Given the description of an element on the screen output the (x, y) to click on. 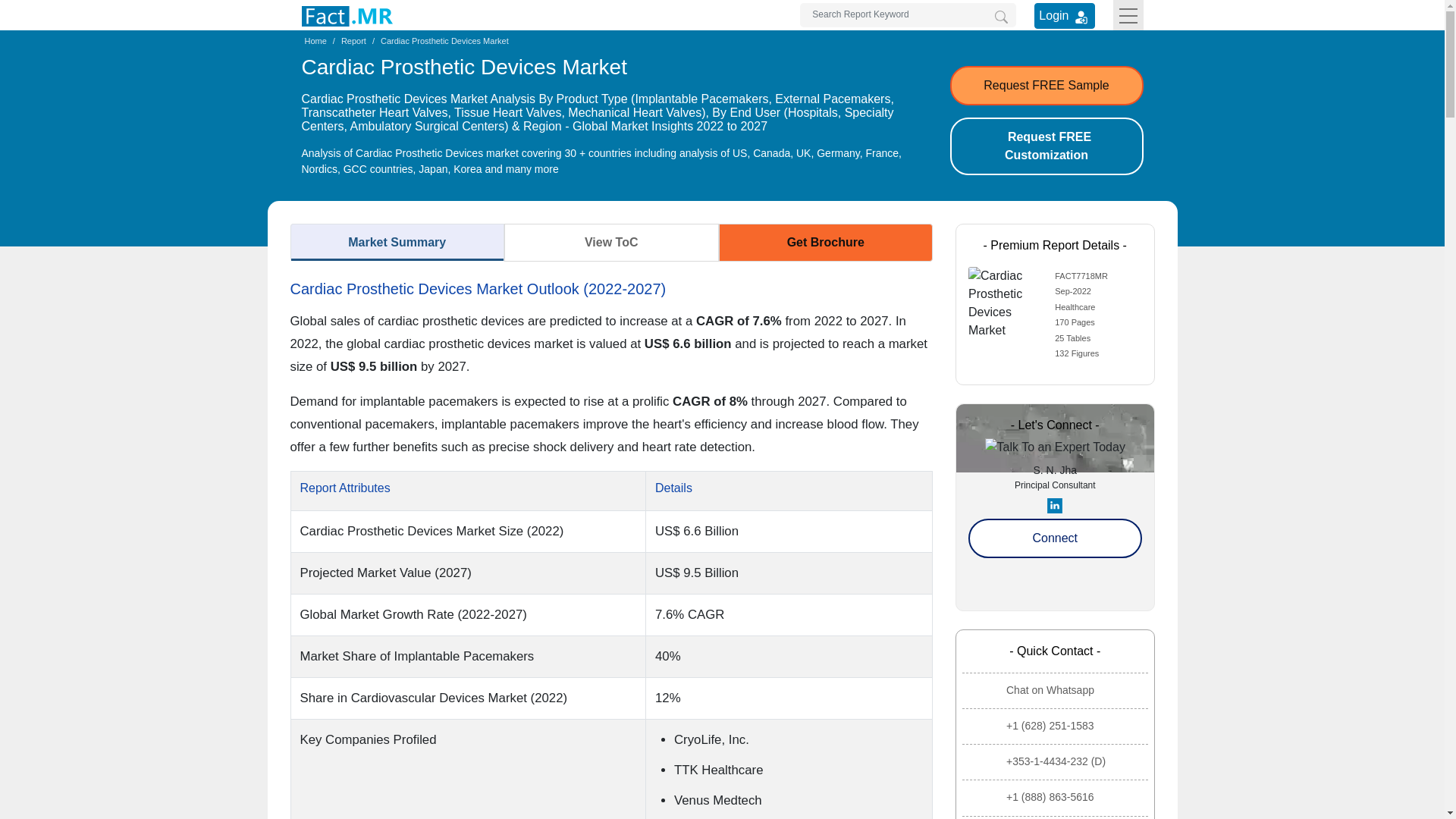
Fact.MR, Market Research Company (347, 16)
Login (1080, 17)
Login (1063, 15)
Connect (1054, 537)
Healthcare (1074, 307)
Fact.MR, Market Research Company (347, 15)
Home (315, 40)
View ToC (611, 242)
Login (1063, 15)
Request FREE Customization (1045, 146)
